Given the description of an element on the screen output the (x, y) to click on. 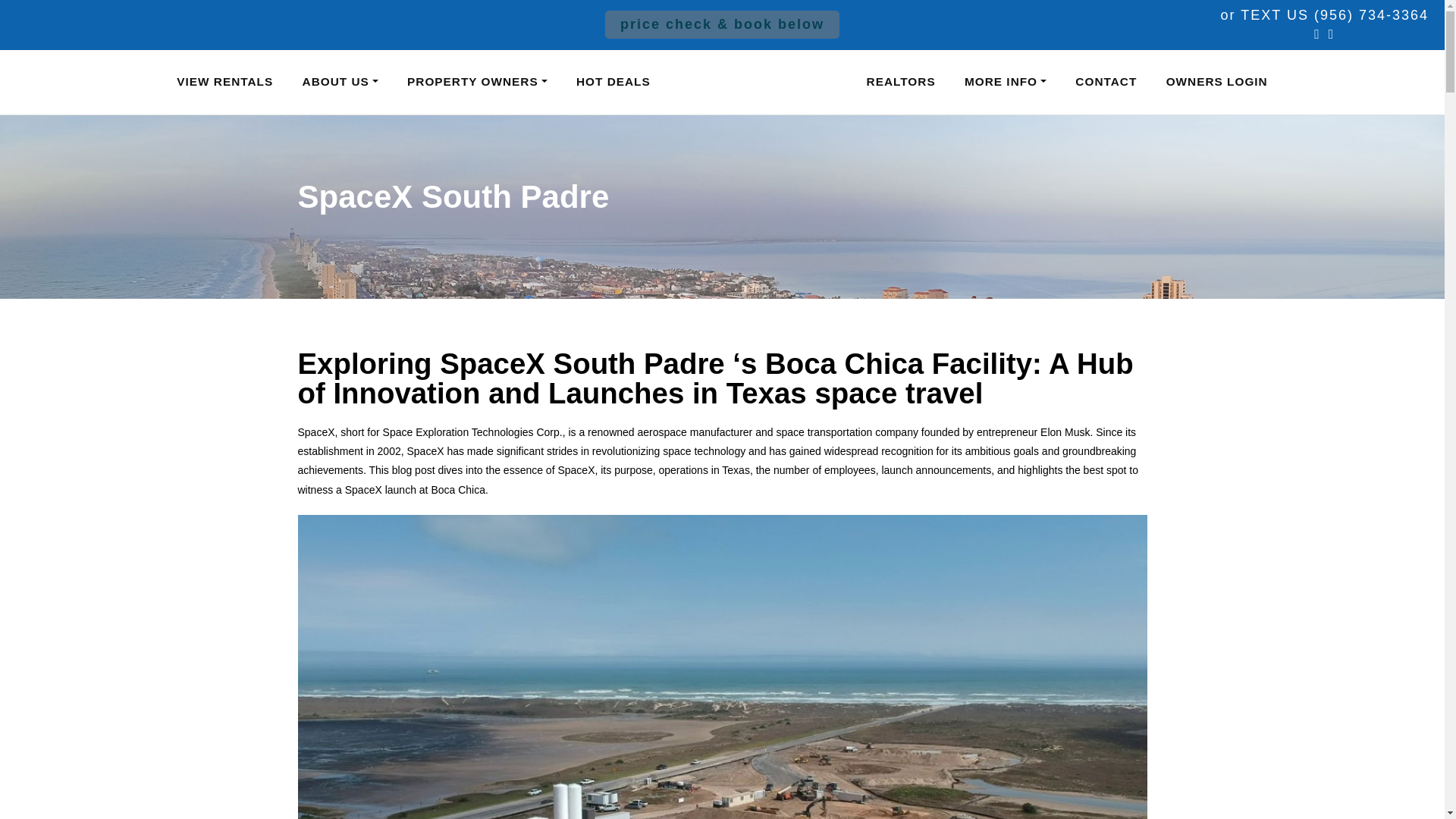
HOT DEALS (613, 81)
REALTORS (900, 81)
Property Owners (477, 81)
Hot Deals (613, 81)
MORE INFO (1005, 81)
CONTACT (1106, 81)
VIEW RENTALS (223, 81)
PROPERTY OWNERS (477, 81)
Text Us (1324, 14)
ABOUT US (339, 81)
